Given the description of an element on the screen output the (x, y) to click on. 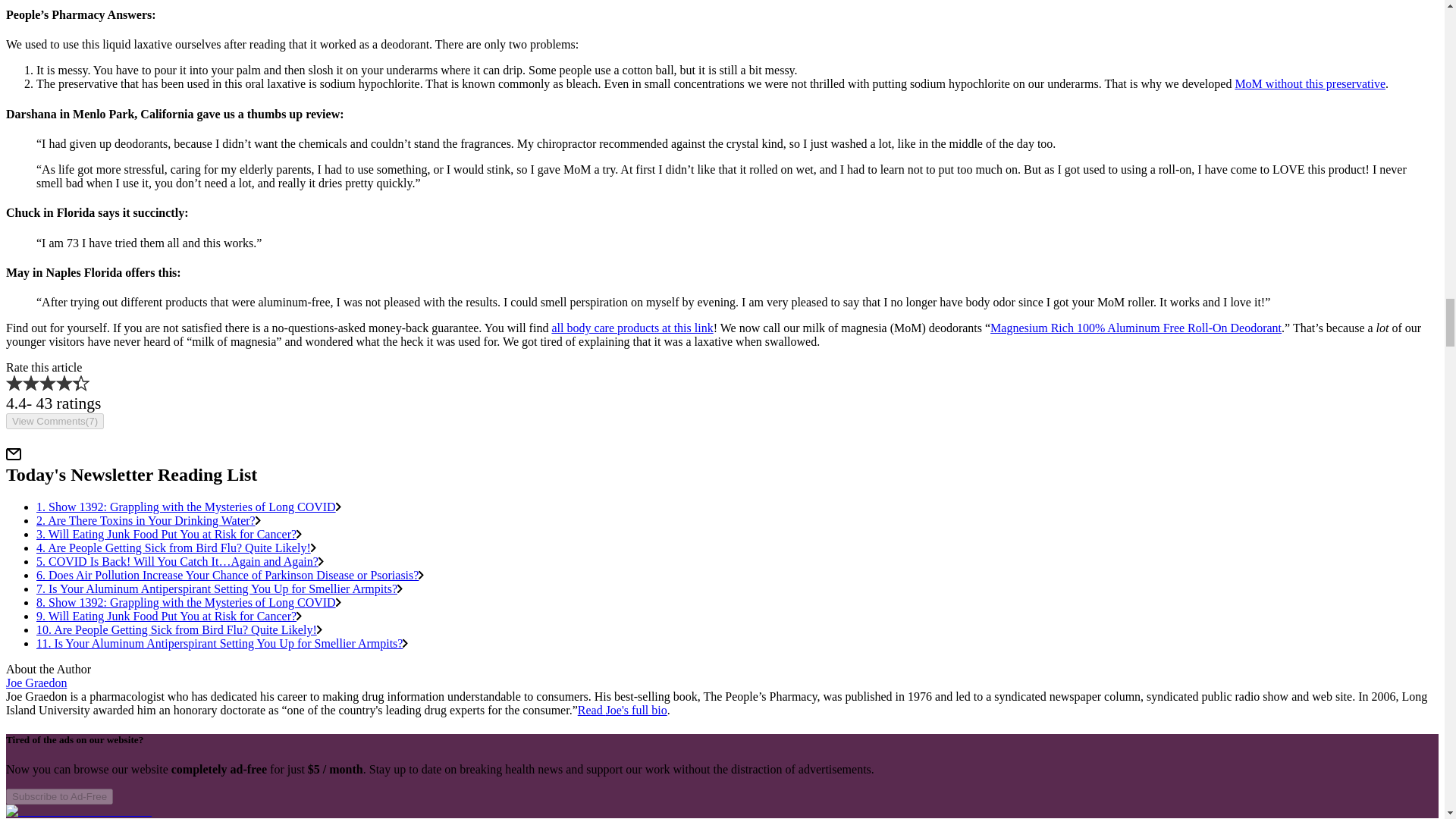
all body care products at this link (632, 327)
4. Are People Getting Sick from Bird Flu? Quite Likely! (175, 547)
1. Show 1392: Grappling with the Mysteries of Long COVID (188, 506)
2. Are There Toxins in Your Drinking Water? (148, 520)
MoM without this preservative (1310, 83)
3. Will Eating Junk Food Put You at Risk for Cancer? (168, 533)
star-fullstar-empty (80, 382)
